Given the description of an element on the screen output the (x, y) to click on. 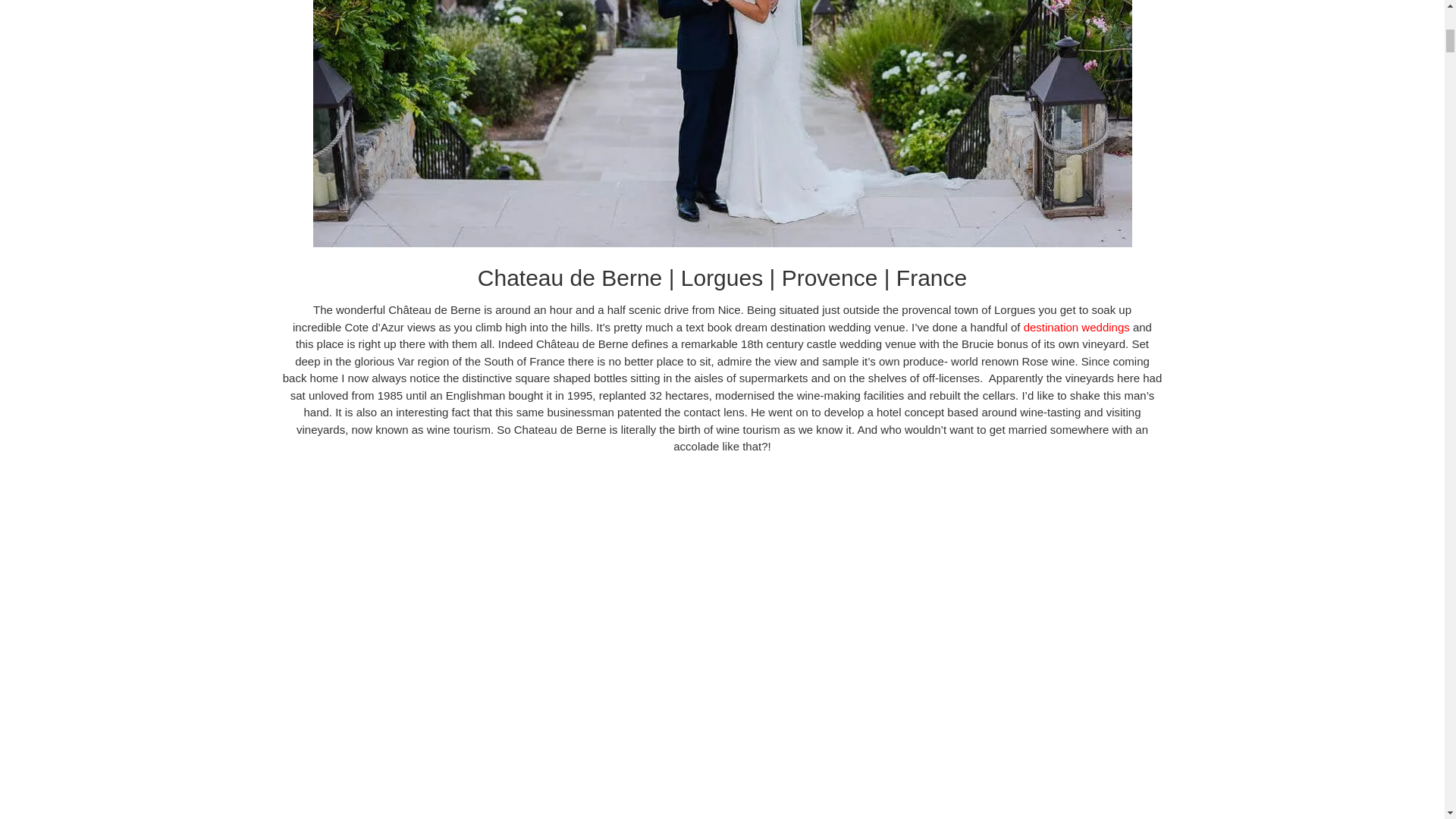
destination weddings (1076, 326)
